Given the description of an element on the screen output the (x, y) to click on. 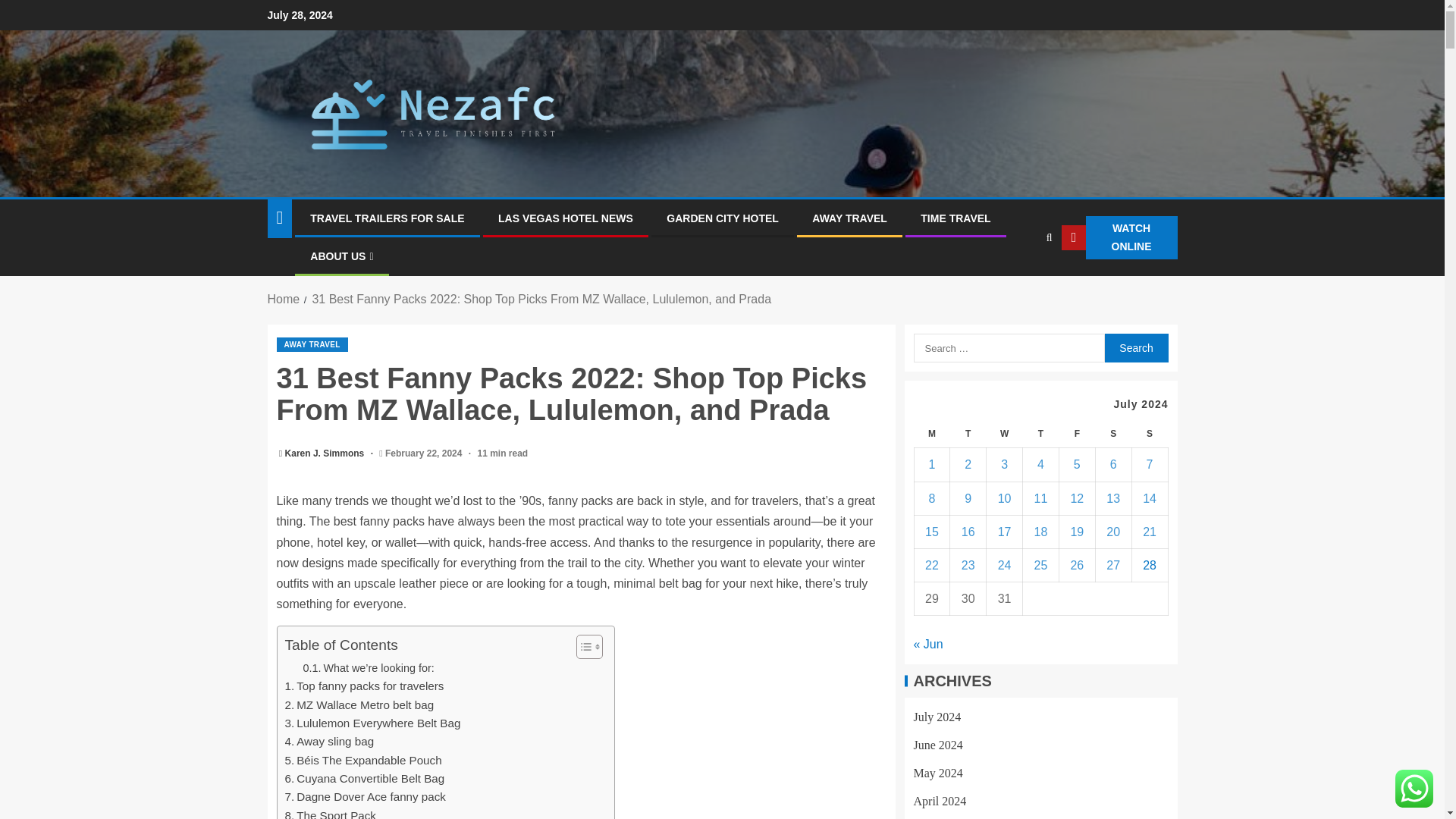
Dagne Dover Ace fanny pack (365, 796)
The Sport Pack (330, 812)
TRAVEL TRAILERS FOR SALE (387, 218)
Away sling bag (329, 741)
ABOUT US (341, 256)
AWAY TRAVEL (311, 344)
GARDEN CITY HOTEL (722, 218)
Lululemon Everywhere Belt Bag (373, 723)
Home (282, 298)
Lululemon Everywhere Belt Bag (373, 723)
Search (1135, 347)
AWAY TRAVEL (849, 218)
LAS VEGAS HOTEL NEWS (565, 218)
Cuyana Convertible Belt Bag (365, 778)
